Given the description of an element on the screen output the (x, y) to click on. 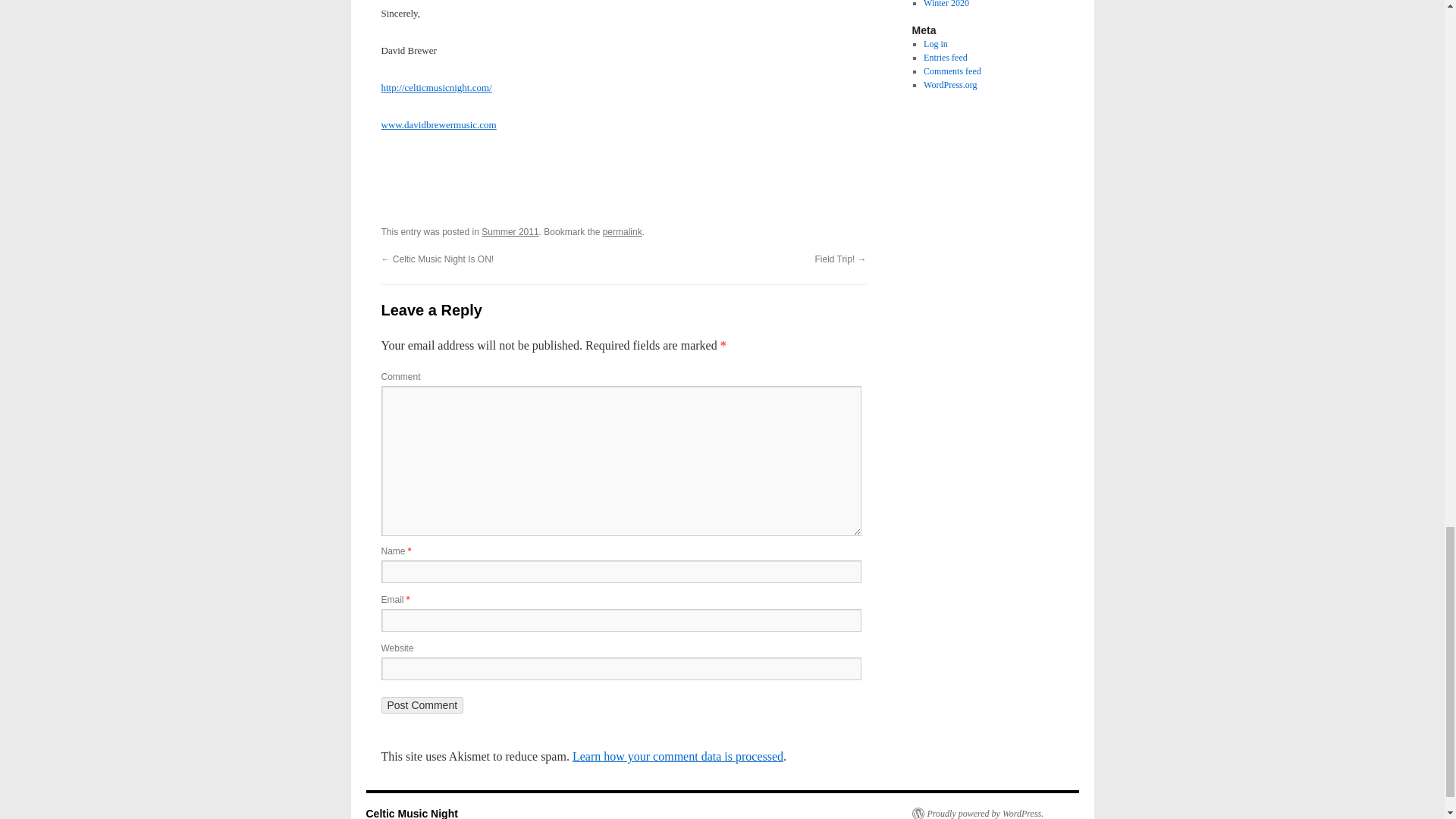
Summer 2011 (509, 231)
permalink (622, 231)
Learn how your comment data is processed (677, 756)
Post Comment (421, 704)
www.davidbrewermusic.com (438, 124)
Permalink to Dueling Uilleanns! (622, 231)
Post Comment (421, 704)
